Given the description of an element on the screen output the (x, y) to click on. 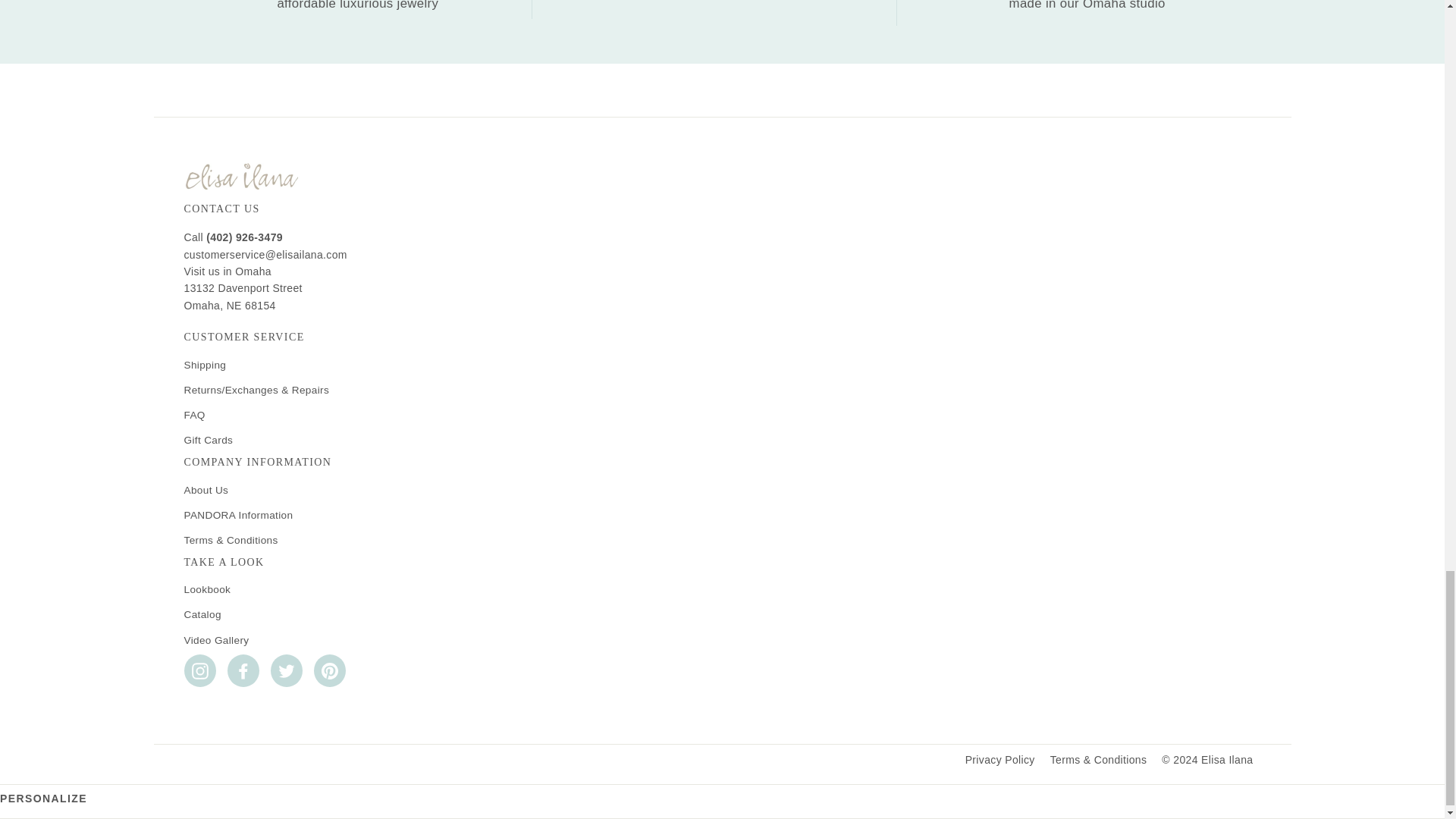
Elisa Ilana on Instagram (199, 670)
Elisa Ilana on Pinterest (330, 670)
Elisa Ilana on Twitter (285, 670)
Elisa Ilana on Facebook (243, 670)
